Given the description of an element on the screen output the (x, y) to click on. 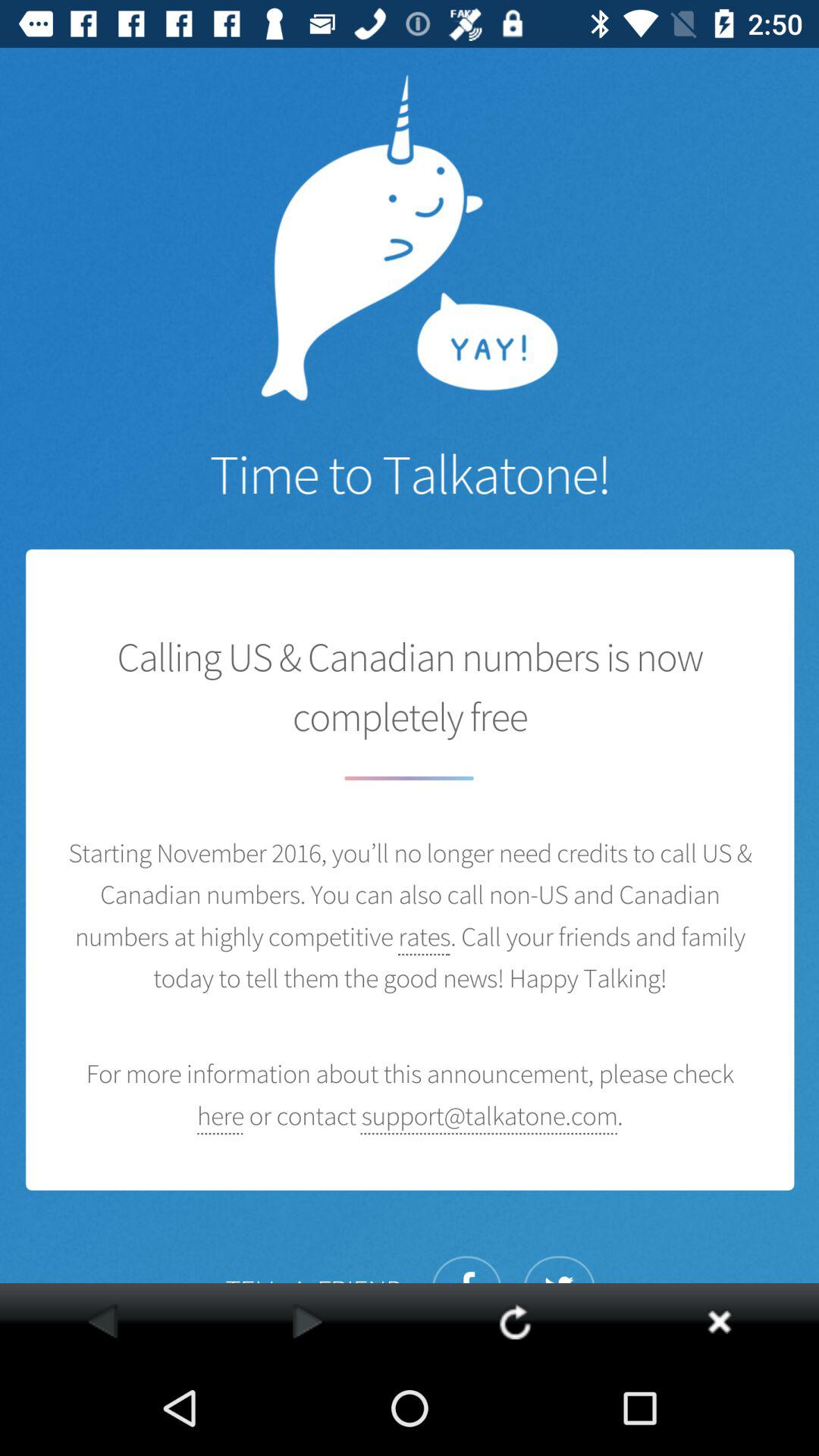
refresh (514, 1321)
